Given the description of an element on the screen output the (x, y) to click on. 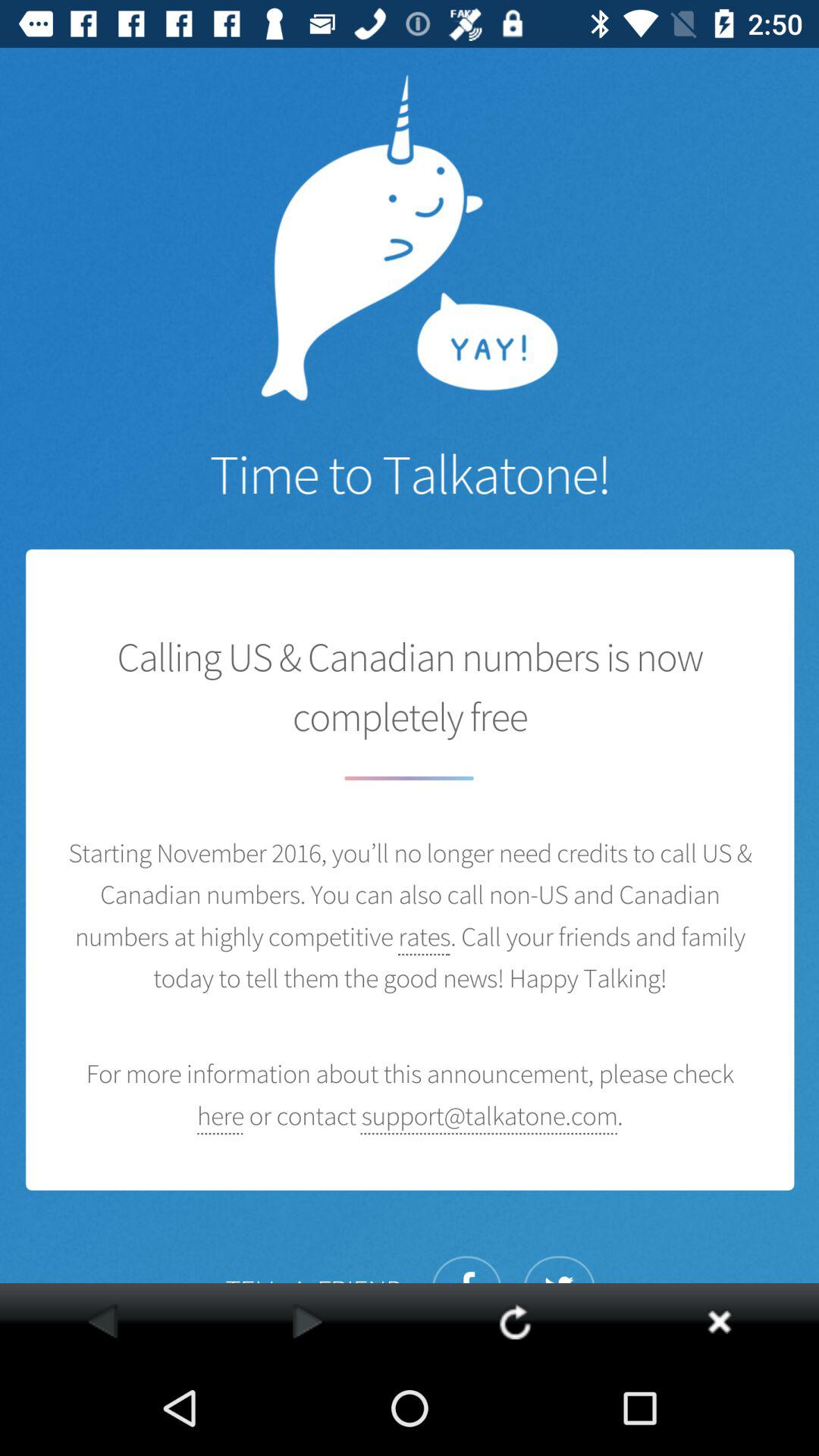
refresh (514, 1321)
